Given the description of an element on the screen output the (x, y) to click on. 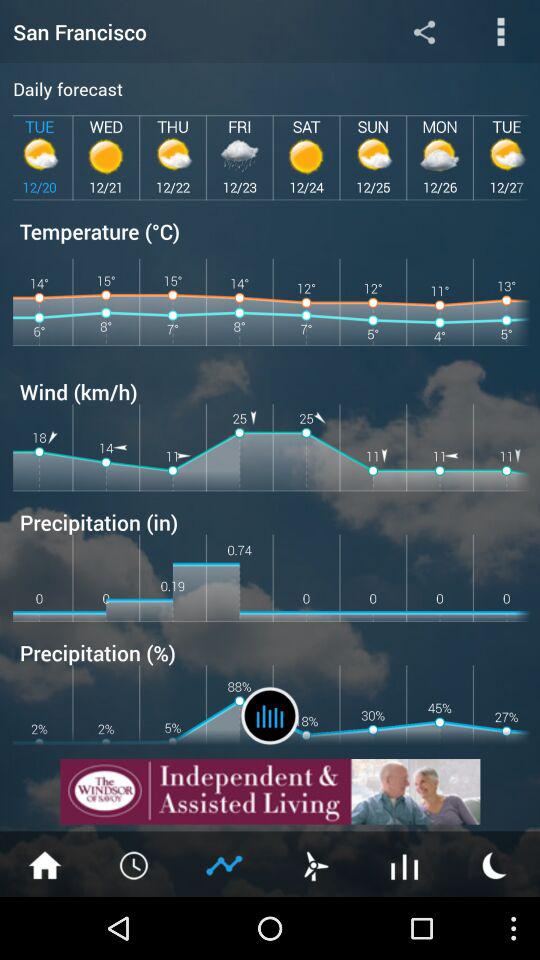
click to more information (500, 31)
